Given the description of an element on the screen output the (x, y) to click on. 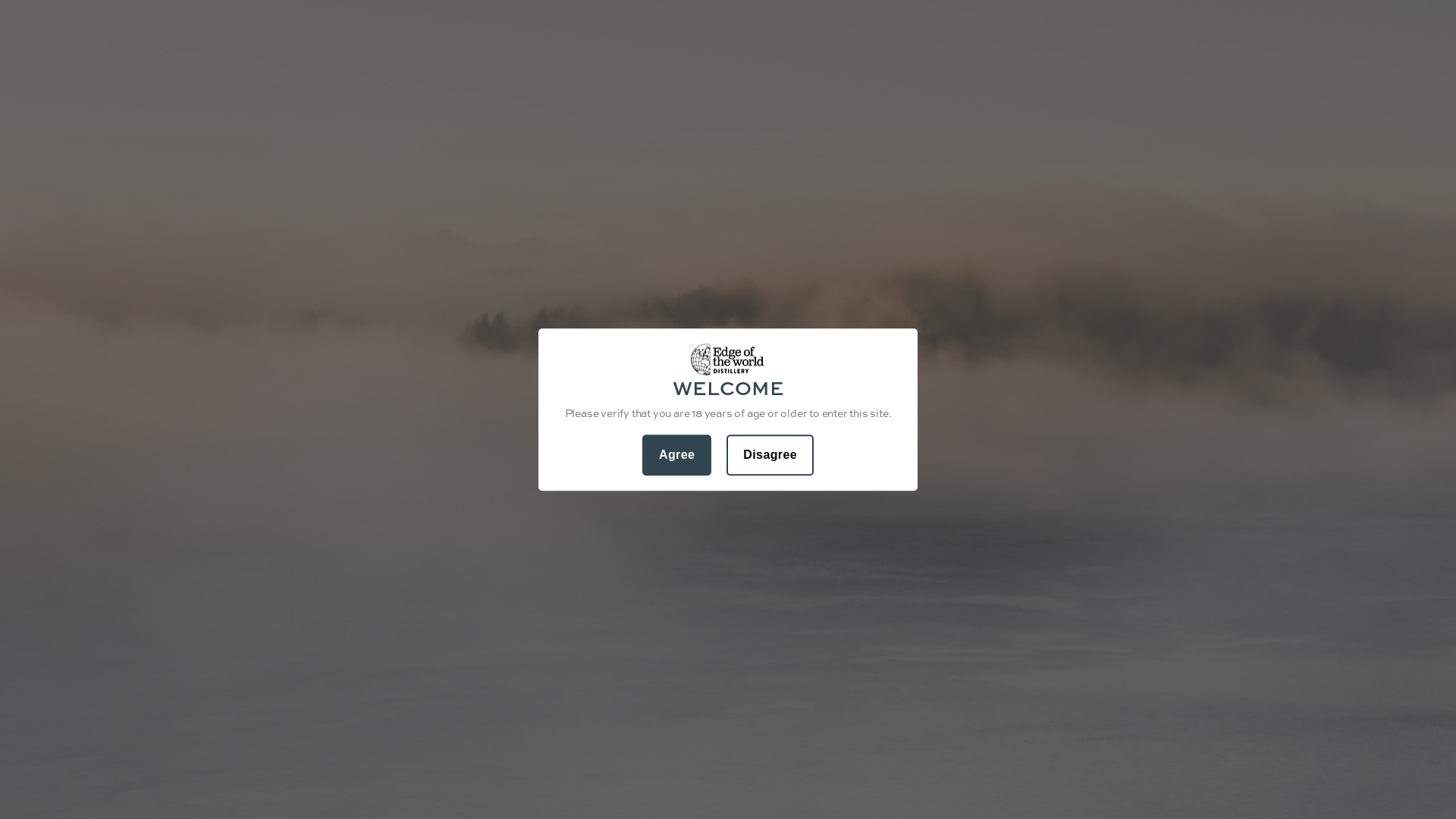
SHOP OUR COLLECTION Element type: text (727, 314)
LOG IN Element type: text (1176, 85)
HOME Element type: text (211, 84)
SHOP Element type: text (274, 84)
Agree Element type: text (676, 454)
CART Element type: text (1255, 85)
ORDER YOURS NOW Element type: text (822, 750)
SEARCH Element type: text (1216, 85)
CONTACT Element type: text (453, 84)
STOCKISTS Element type: text (357, 84)
Disagree Element type: text (769, 454)
OUR GIN IS NOW AVAILABLE FOR PURCHASE - SHOP NOW Element type: text (727, 15)
Skip to content Element type: text (0, 0)
